Given the description of an element on the screen output the (x, y) to click on. 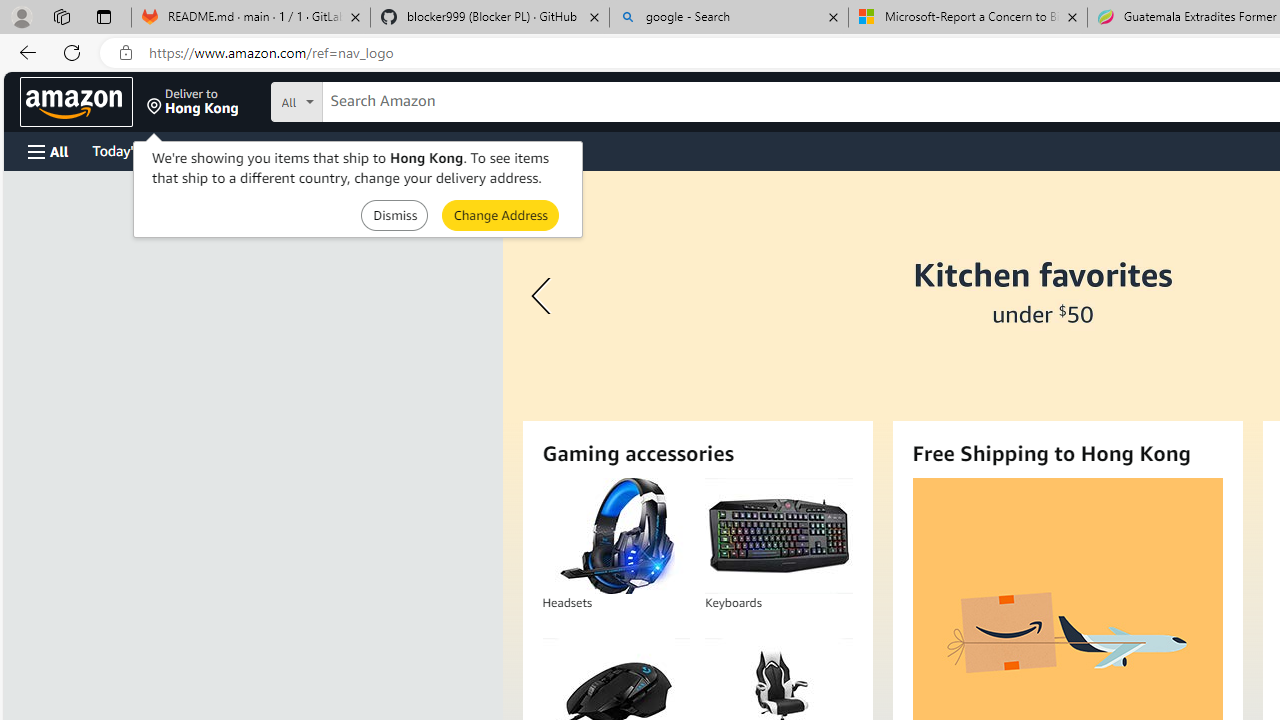
Back (24, 52)
Tab actions menu (104, 16)
Deliver to Hong Kong (193, 101)
Registry (360, 150)
Amazon (76, 101)
Personal Profile (21, 16)
Submit (499, 214)
Refresh (72, 52)
Customer Service (256, 150)
View site information (125, 53)
google - Search (729, 17)
Search in (371, 99)
Previous slide (544, 296)
